Given the description of an element on the screen output the (x, y) to click on. 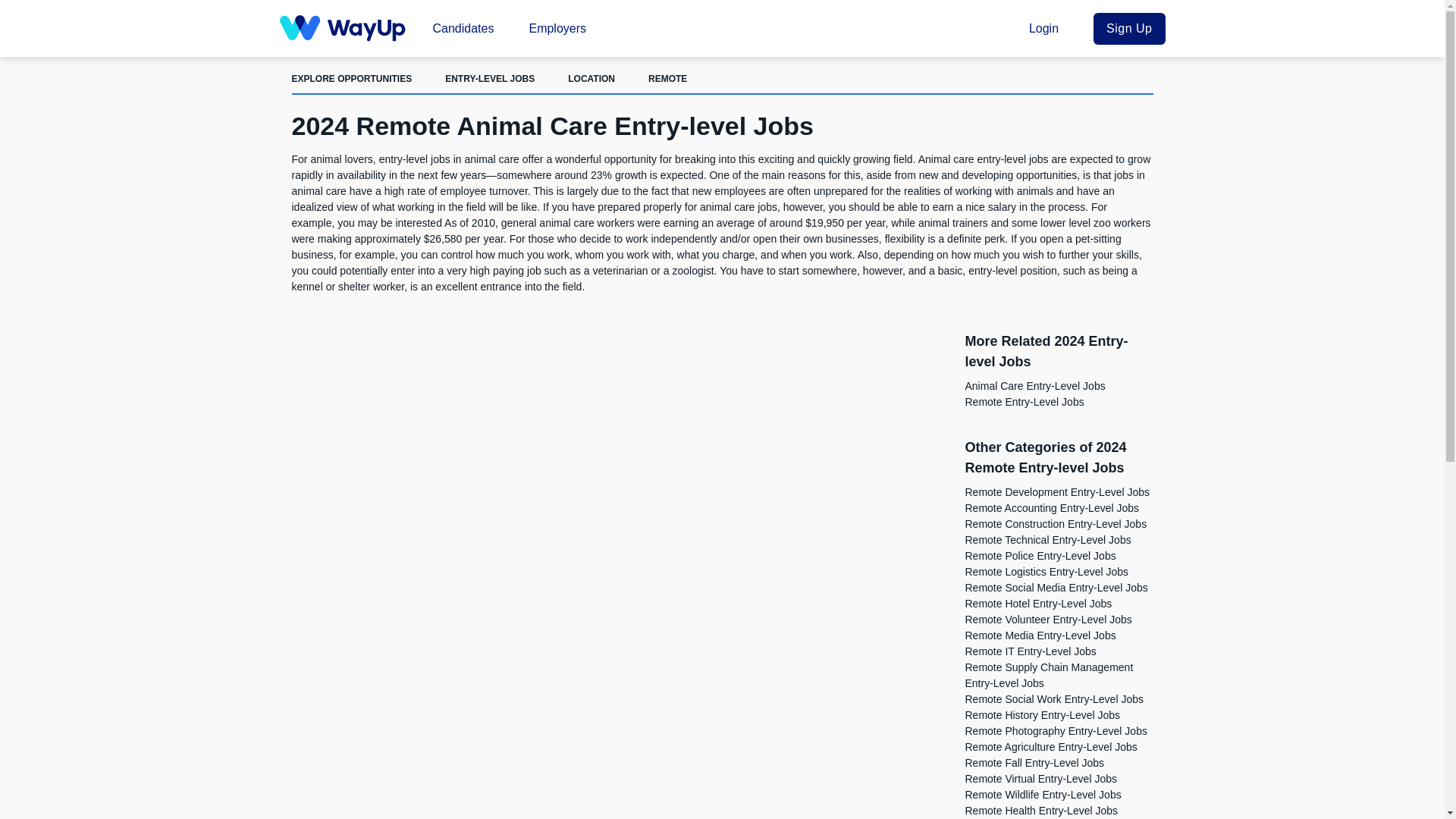
REMOTE (667, 78)
Remote Accounting Entry-Level Jobs (1050, 508)
Remote Agriculture Entry-Level Jobs (1050, 746)
Remote Health Entry-Level Jobs (1040, 810)
Remote Development Entry-Level Jobs (1056, 491)
LOCATION (590, 78)
EXPLORE OPPORTUNITIES (351, 78)
Remote Volunteer Entry-Level Jobs (1047, 619)
Remote Logistics Entry-Level Jobs (1045, 571)
Remote Technical Entry-Level Jobs (1047, 539)
Sign Up (1128, 28)
Remote Police Entry-Level Jobs (1039, 555)
Remote Media Entry-Level Jobs (1039, 635)
Login (1048, 27)
Remote IT Entry-Level Jobs (1029, 651)
